Given the description of an element on the screen output the (x, y) to click on. 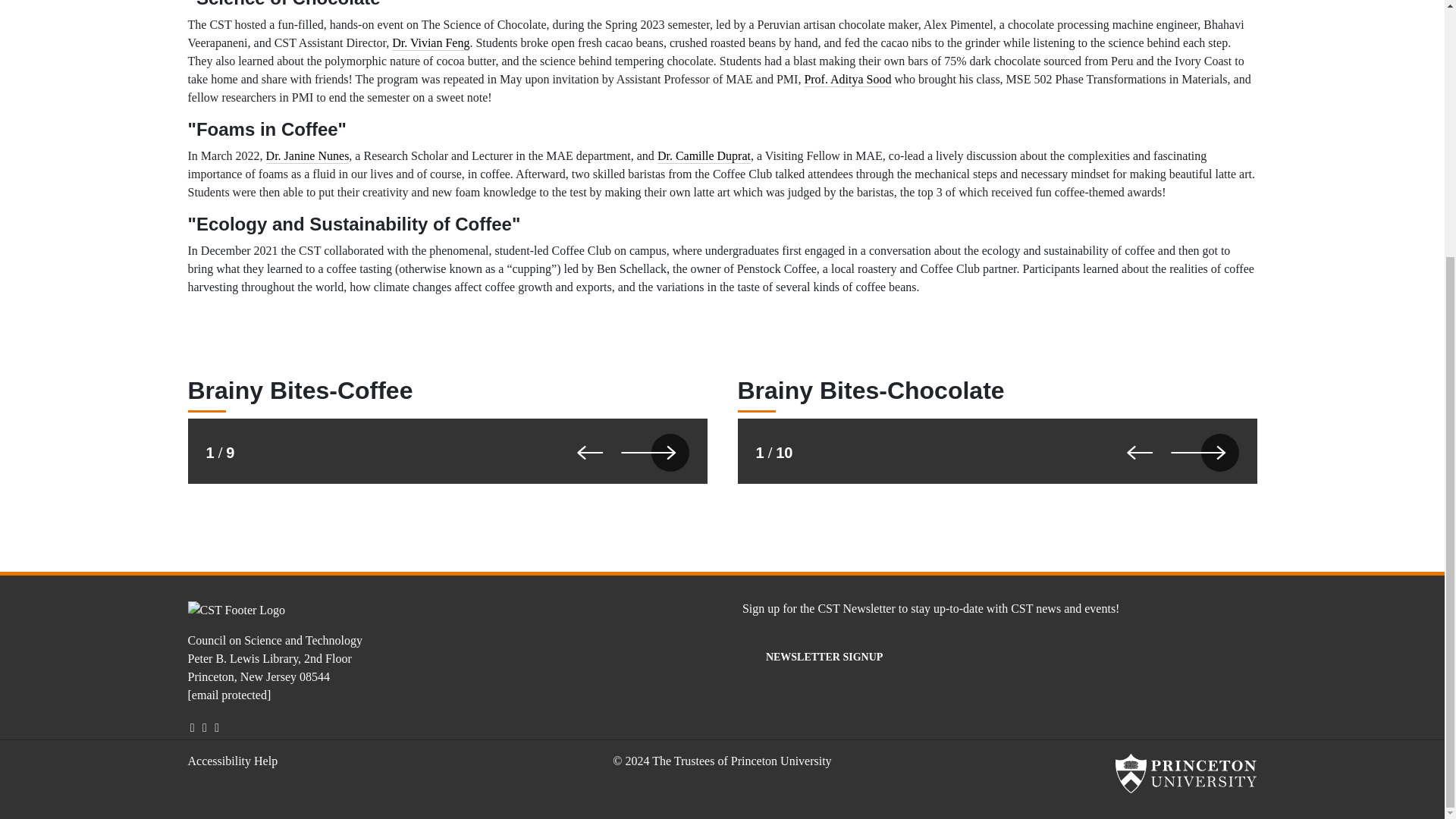
Princeton University (1185, 773)
